Given the description of an element on the screen output the (x, y) to click on. 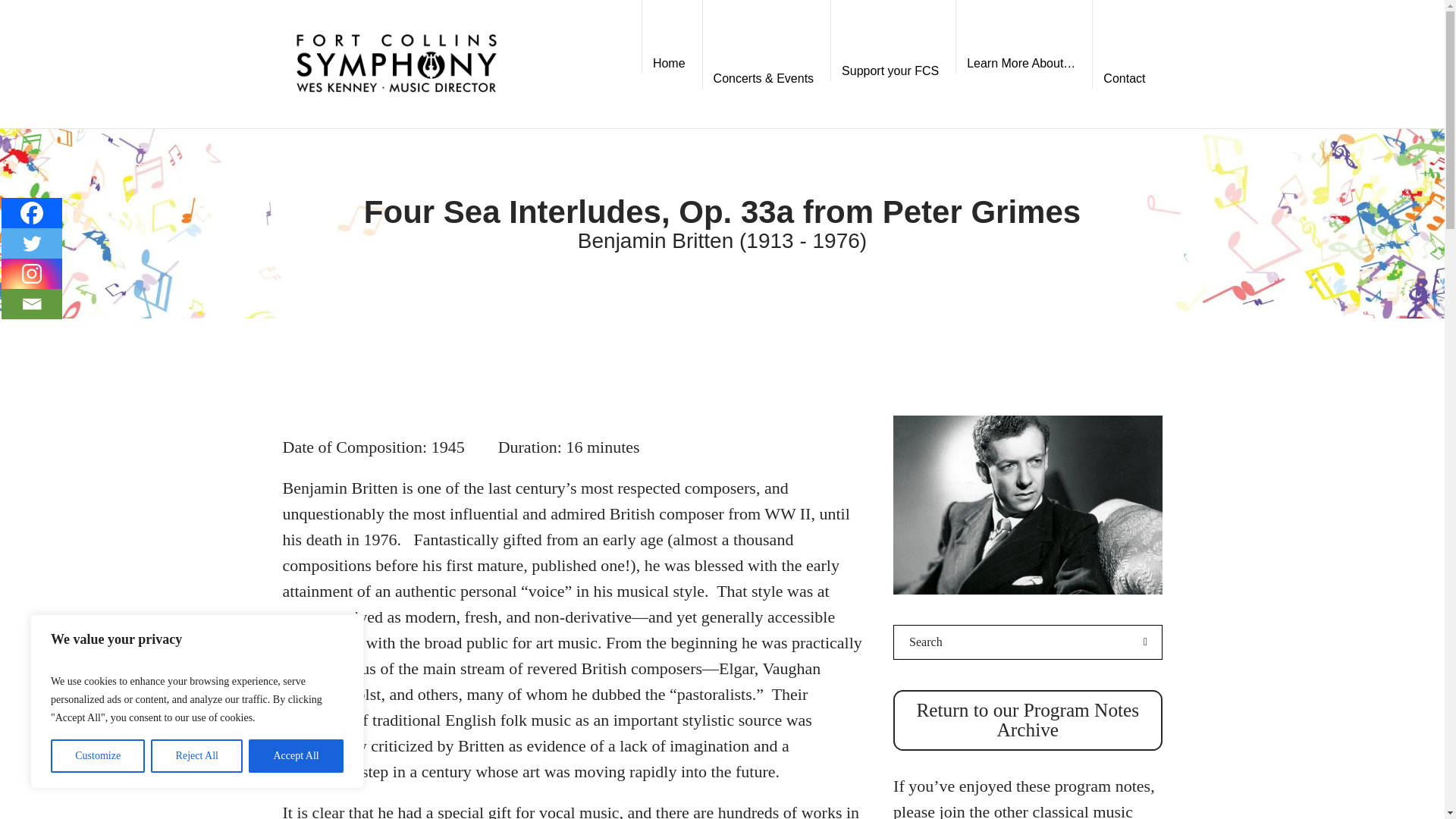
Instagram (31, 273)
Email (31, 304)
Facebook (31, 213)
Accept All (295, 756)
Support your FCS (892, 71)
Customize (97, 756)
Twitter (31, 243)
Home (672, 63)
Reject All (197, 756)
